Given the description of an element on the screen output the (x, y) to click on. 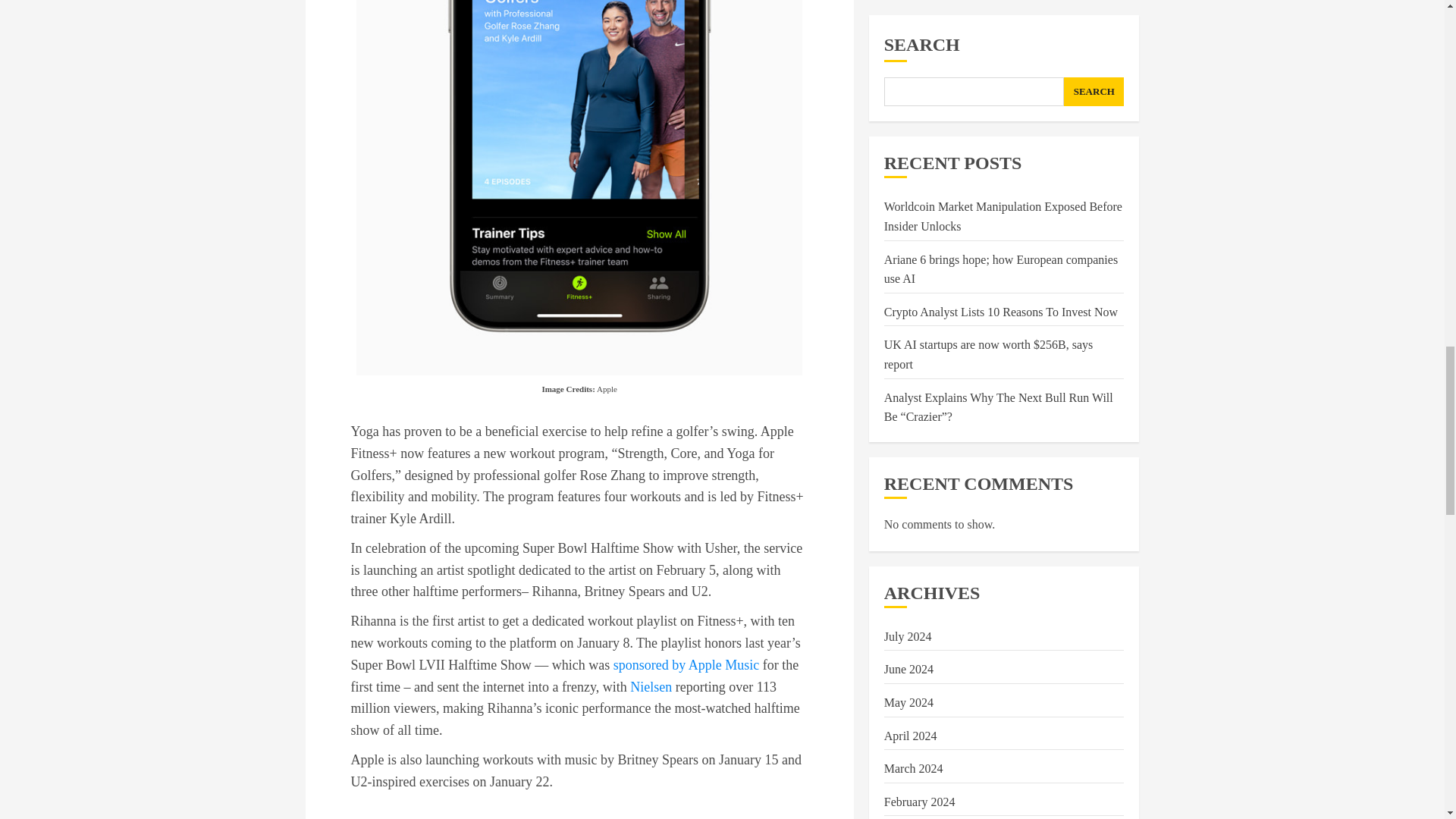
Nielsen (650, 686)
sponsored by Apple Music (686, 664)
